Given the description of an element on the screen output the (x, y) to click on. 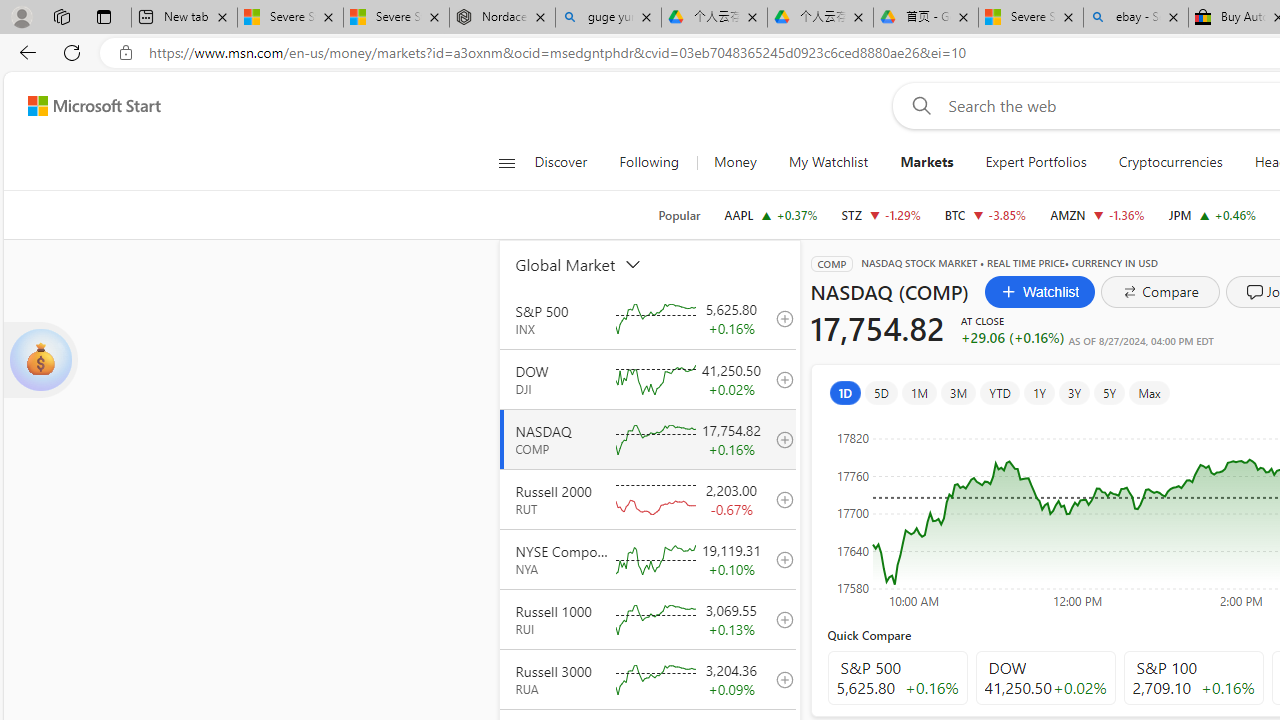
3M (958, 392)
JPM JPMORGAN CHASE & CO. increase 220.18 +1.01 +0.46% (1211, 214)
Skip to footer (82, 105)
Skip to content (86, 105)
Markets (927, 162)
AMZN AMAZON.COM, INC. decrease 173.12 -2.38 -1.36% (1097, 214)
My Watchlist (827, 162)
Watchlist (1039, 291)
